Given the description of an element on the screen output the (x, y) to click on. 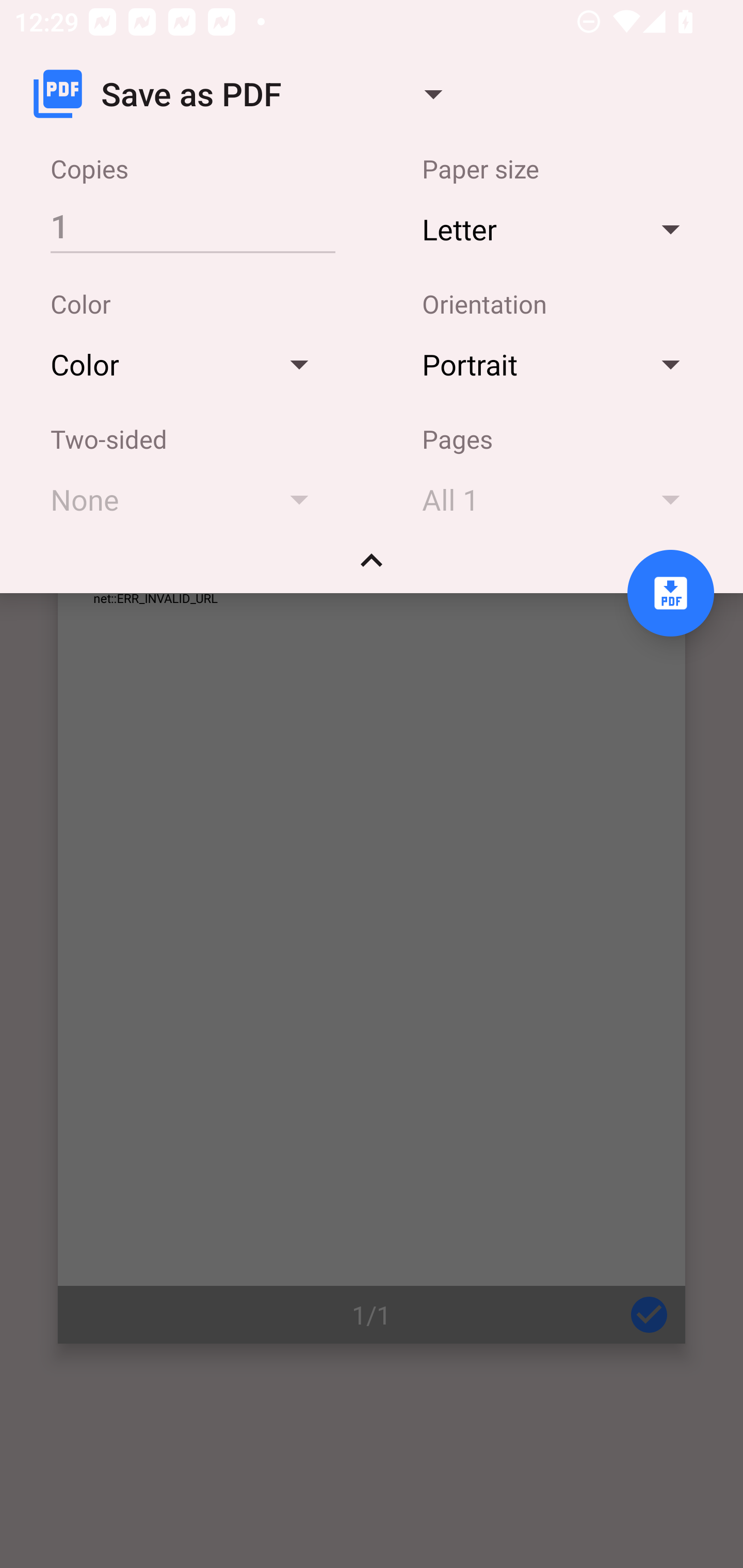
Save as PDF (245, 93)
1 (192, 225)
Letter (560, 228)
Color (189, 364)
Portrait (560, 364)
None (189, 499)
All 1 (560, 499)
Collapse handle (371, 567)
Save to PDF (670, 593)
